Given the description of an element on the screen output the (x, y) to click on. 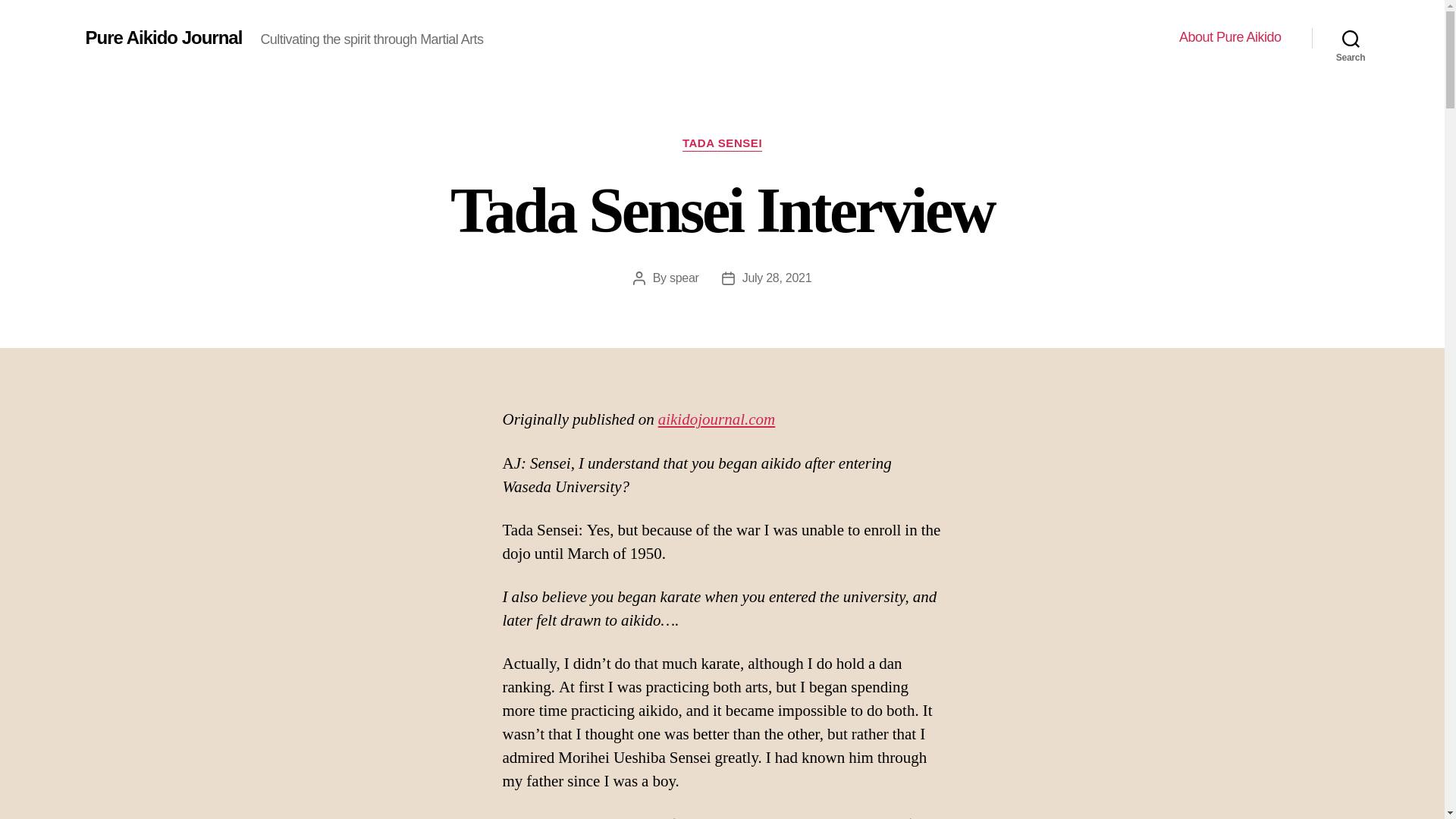
July 28, 2021 (777, 277)
Search (1350, 37)
About Pure Aikido (1230, 37)
Pure Aikido Journal (162, 37)
spear (683, 277)
aikidojournal.com (717, 419)
TADA SENSEI (721, 143)
